Given the description of an element on the screen output the (x, y) to click on. 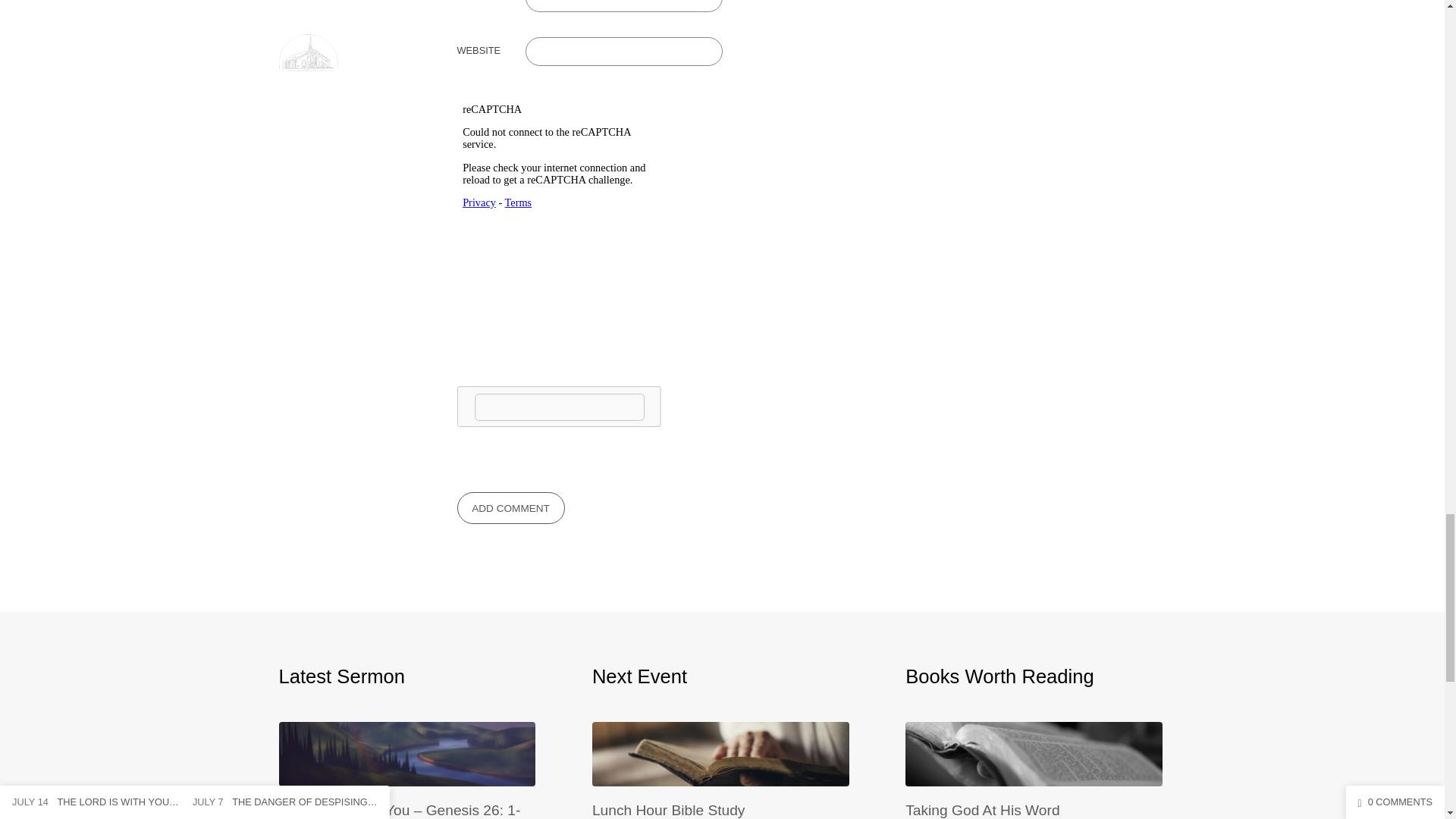
Lunch Hour Bible Study (668, 810)
Lunch Hour Bible Study (720, 774)
Taking God At His Word (982, 810)
Add Comment (510, 508)
Taking God At His Word (1033, 774)
